Given the description of an element on the screen output the (x, y) to click on. 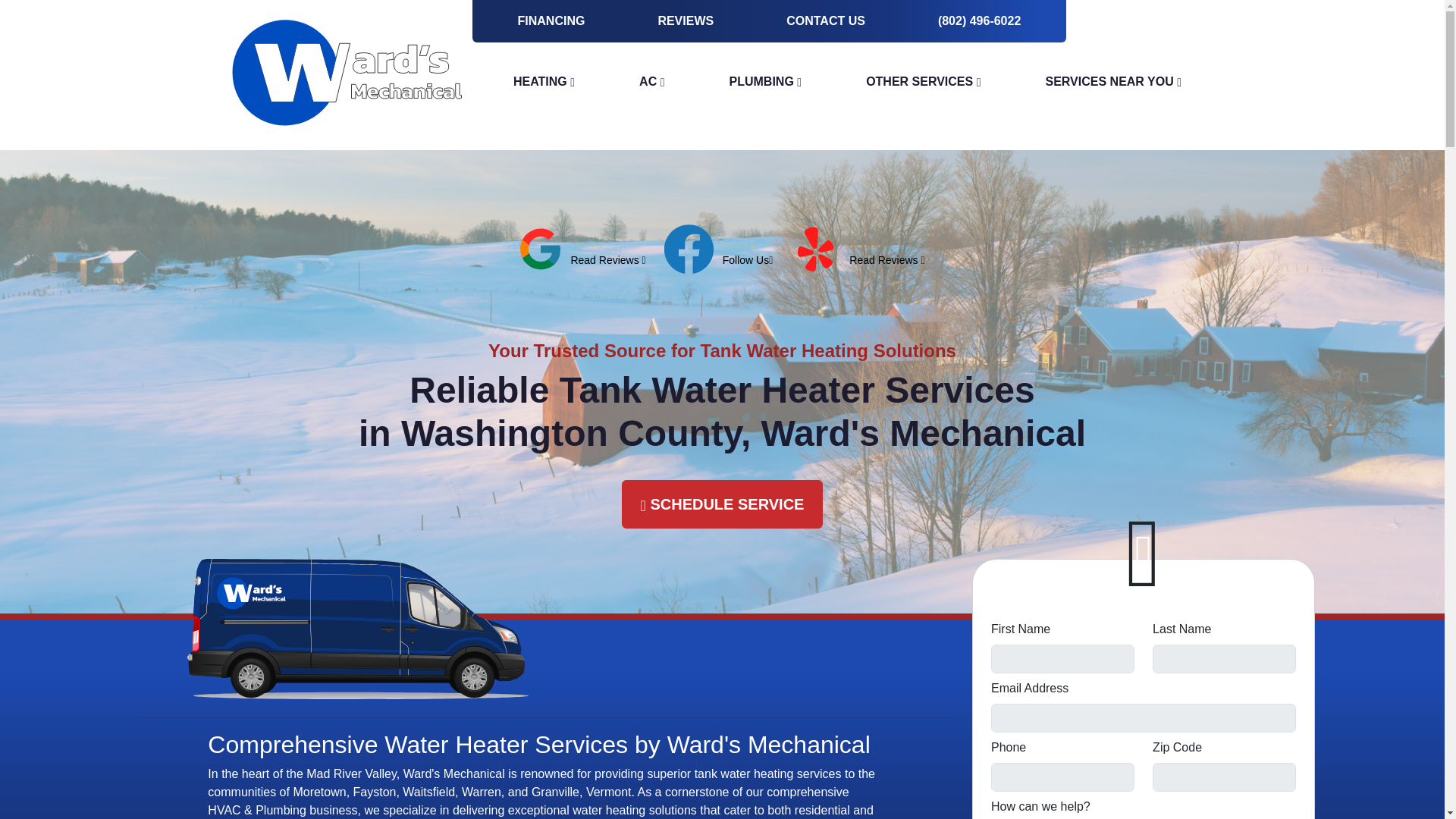
PLUMBING (765, 81)
FINANCING (550, 21)
REVIEWS (685, 21)
AC (652, 81)
CONTACT US (825, 21)
OTHER SERVICES (923, 81)
HEATING (543, 81)
